Given the description of an element on the screen output the (x, y) to click on. 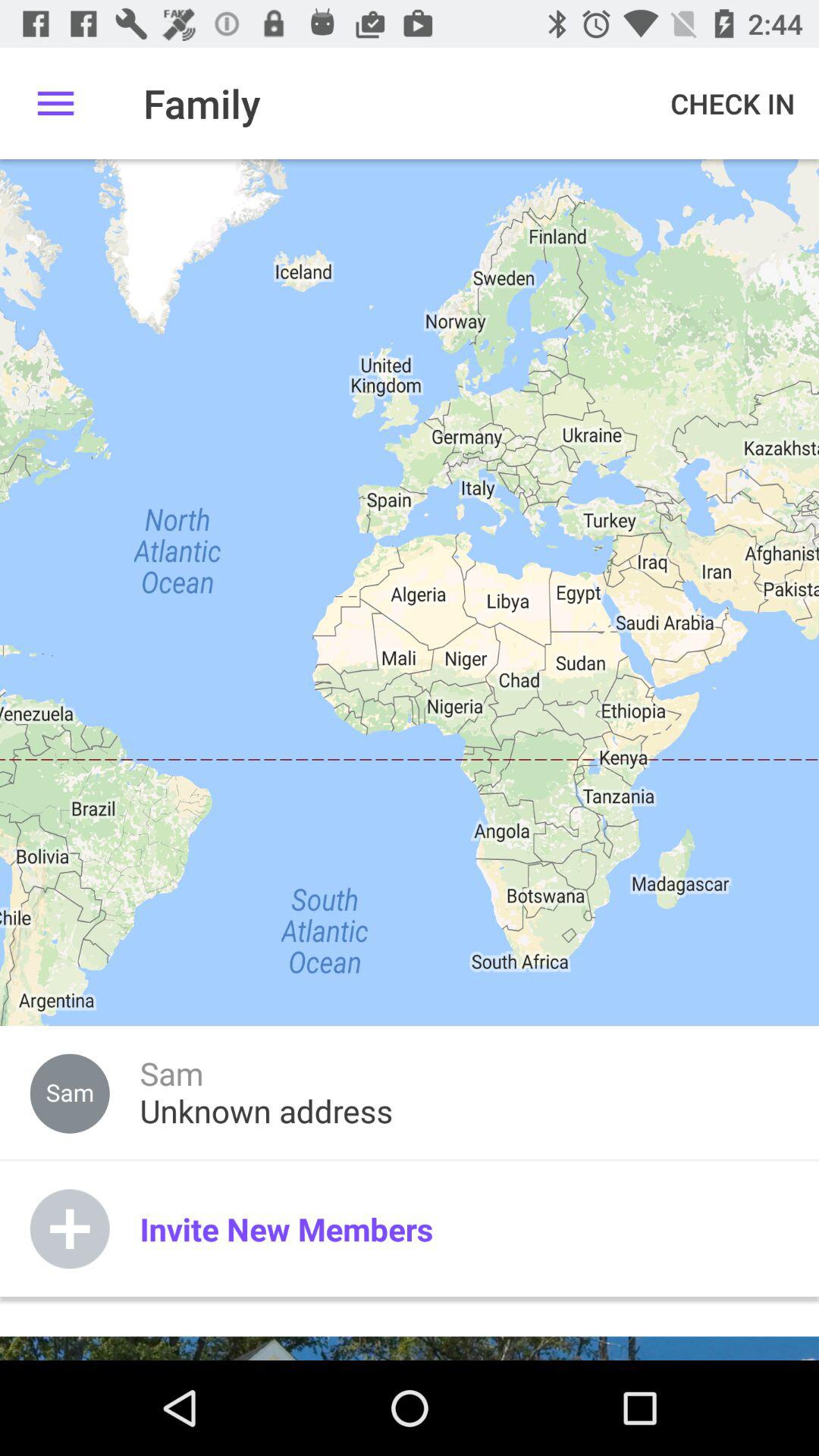
open item to the left of family icon (55, 103)
